Given the description of an element on the screen output the (x, y) to click on. 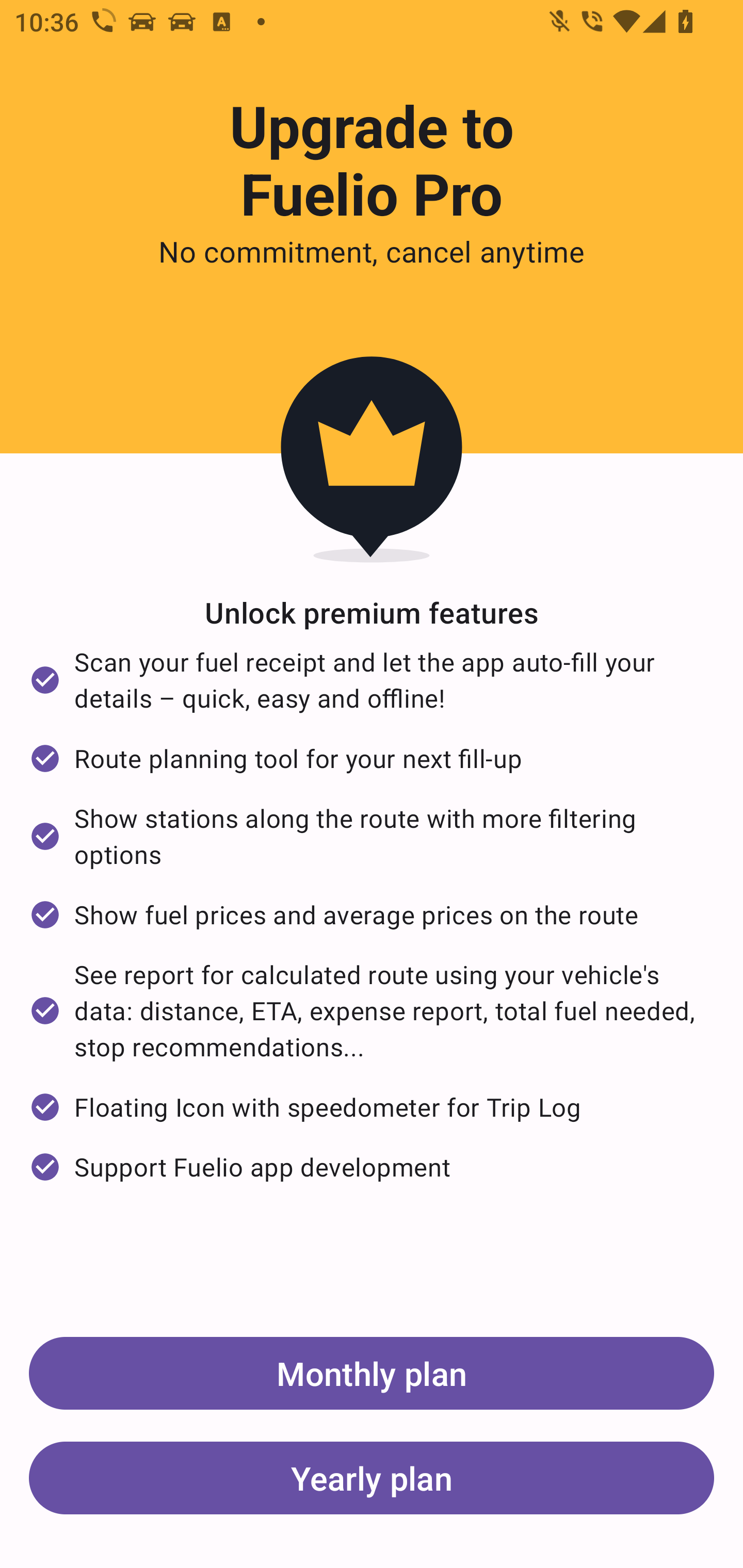
Monthly plan (371, 1373)
Yearly plan (371, 1477)
